Given the description of an element on the screen output the (x, y) to click on. 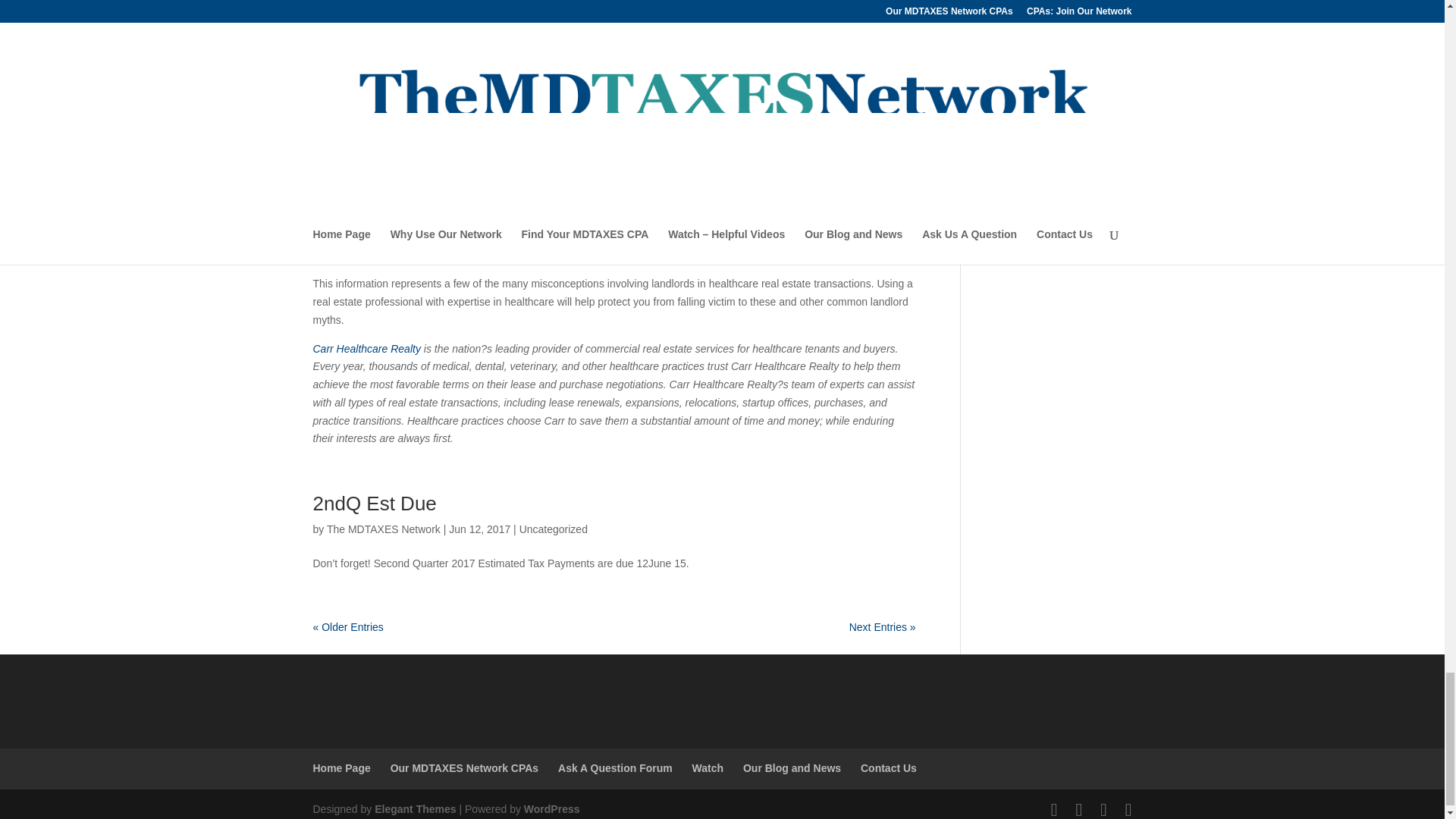
Posts by The MDTAXES Network (383, 529)
Premium WordPress Themes (414, 808)
